Given the description of an element on the screen output the (x, y) to click on. 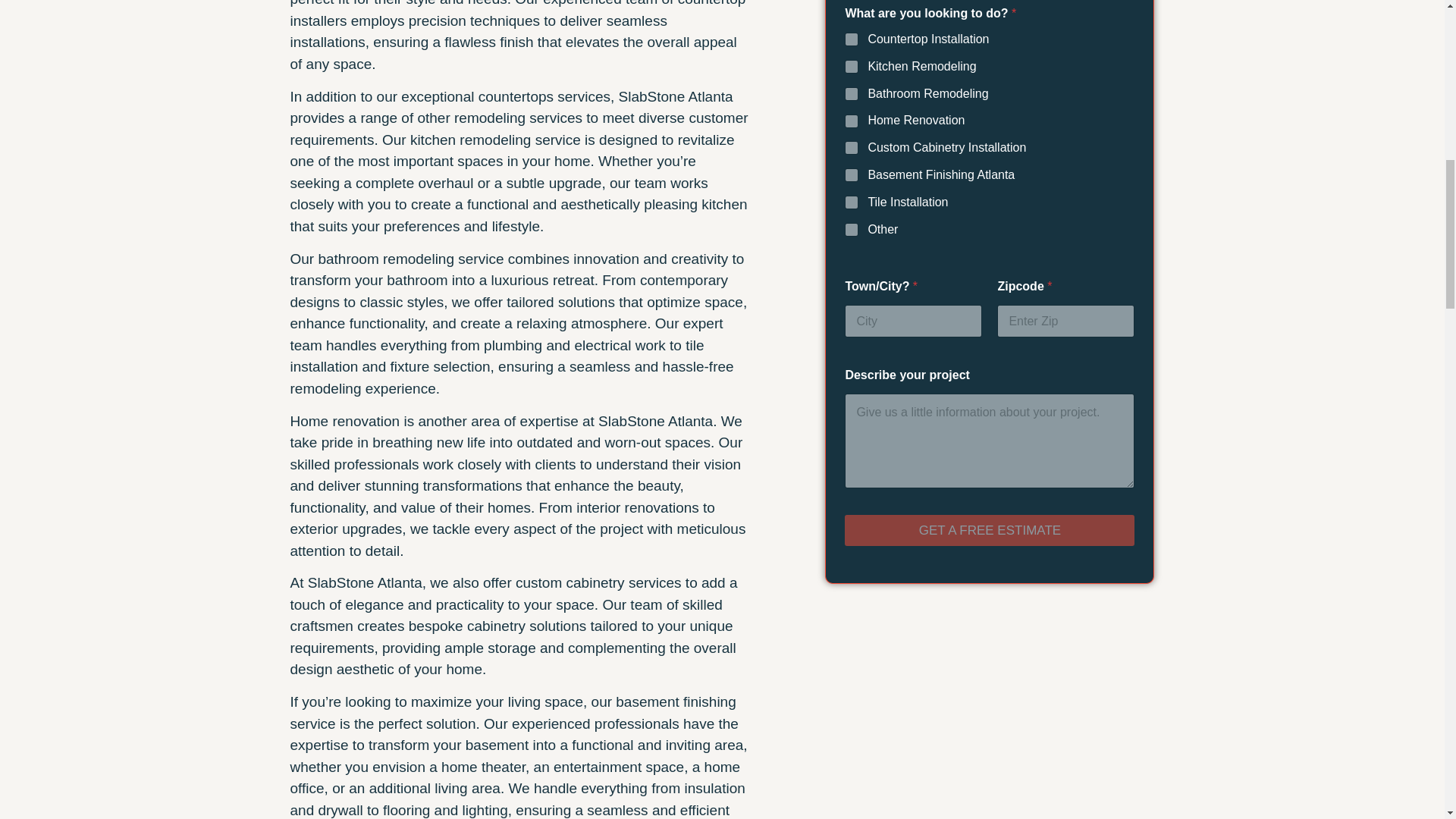
Tile Installation (852, 203)
Home Renovation (852, 121)
Bathroom Remodeling (852, 94)
Other (852, 230)
Kitchen Remodeling (852, 67)
Countertop Installation (852, 39)
Custom Cabinetry Installation (852, 148)
Basement Finishing Atlanta (852, 175)
